Given the description of an element on the screen output the (x, y) to click on. 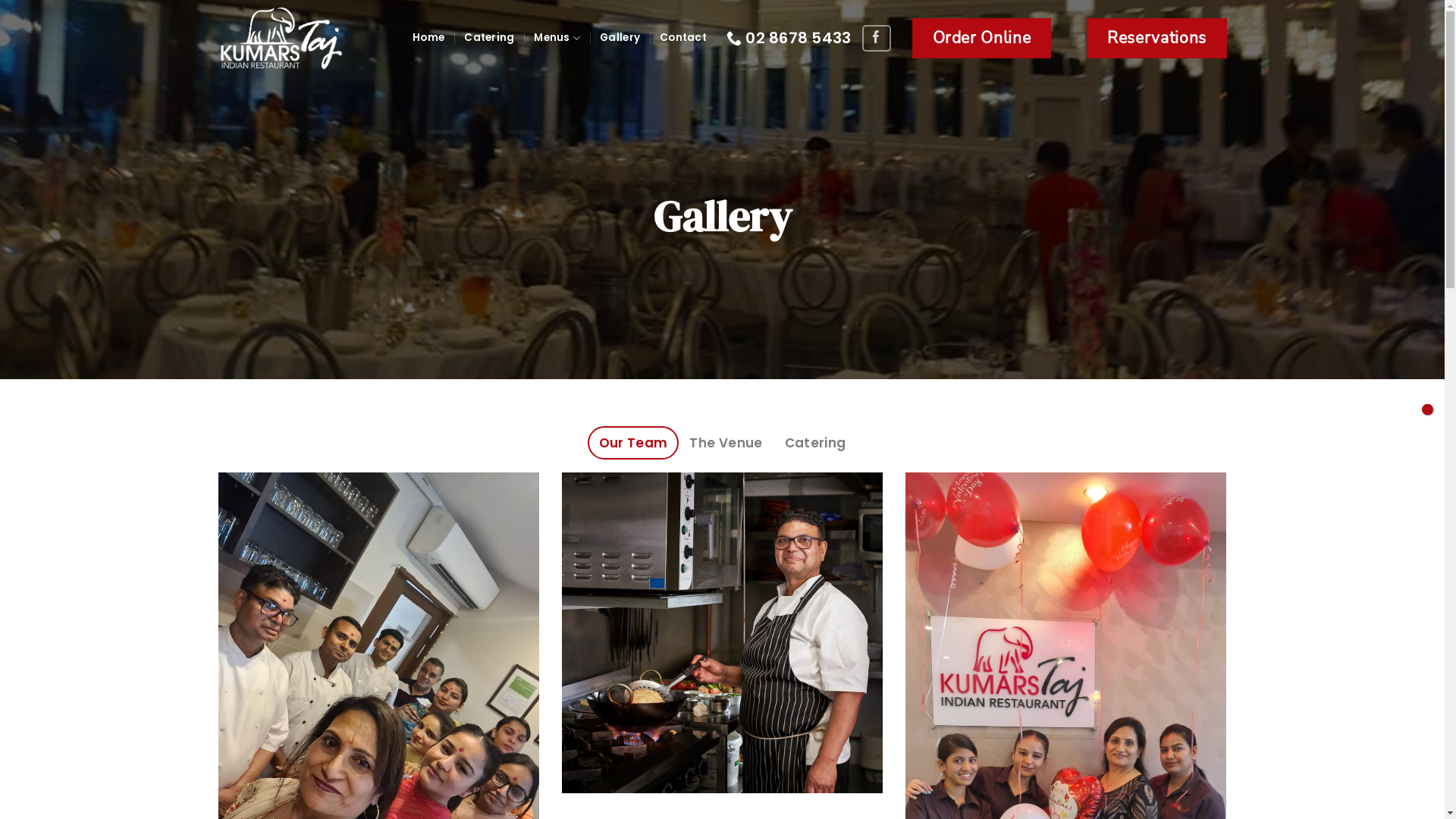
02 8678 5433 Element type: text (788, 37)
Our Team Element type: text (632, 442)
Contact Element type: text (682, 37)
Home Element type: text (428, 37)
Catering Element type: text (489, 37)
Reservations Element type: text (1156, 38)
Gallery Element type: text (619, 37)
The Venue Element type: text (725, 442)
Catering Element type: text (814, 442)
Menus Element type: text (556, 38)
